Given the description of an element on the screen output the (x, y) to click on. 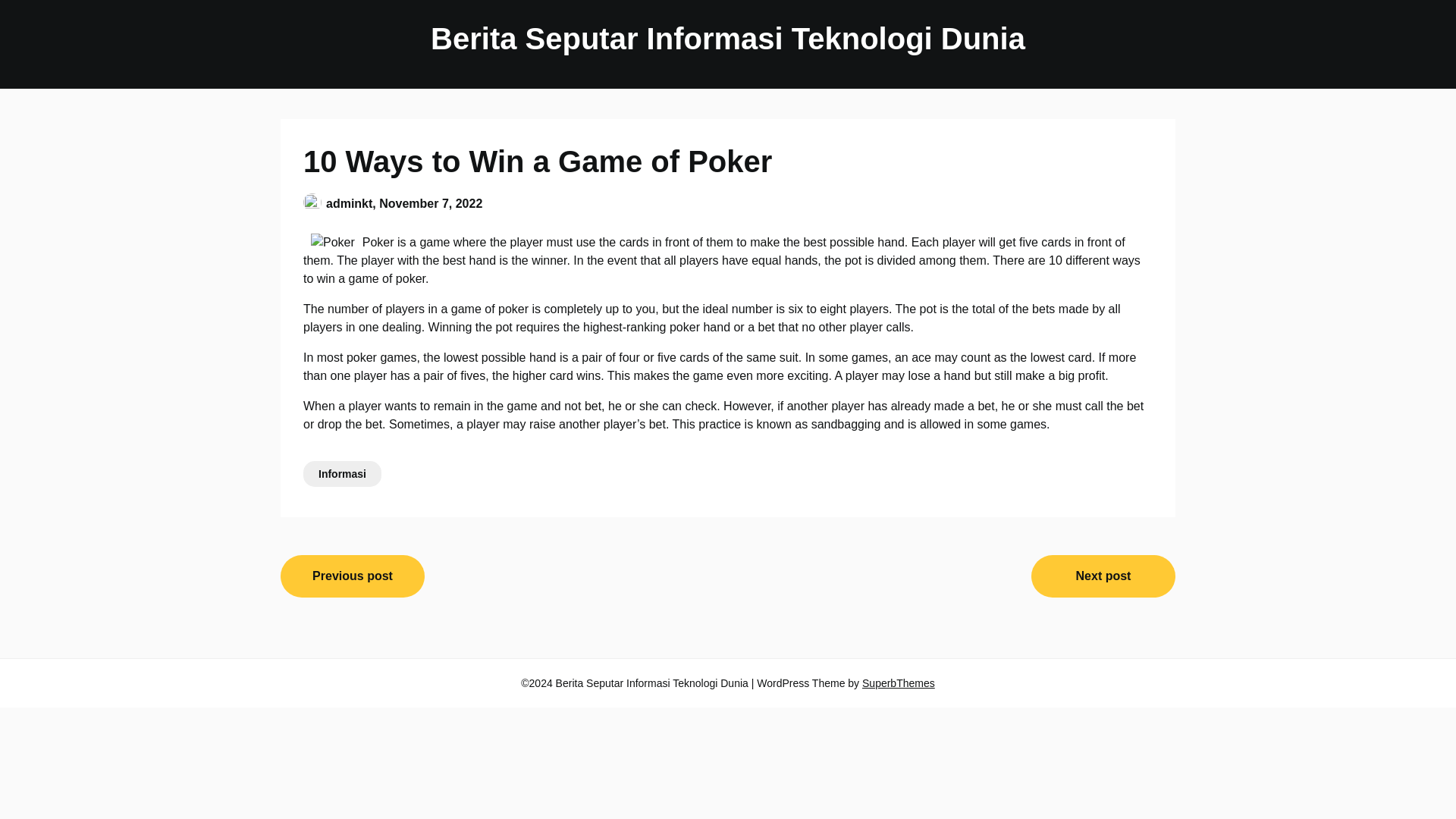
Next post (1102, 576)
Previous post (353, 576)
Informasi (341, 473)
November 7, 2022 (429, 203)
Berita Seputar Informasi Teknologi Dunia (727, 38)
SuperbThemes (897, 683)
